Given the description of an element on the screen output the (x, y) to click on. 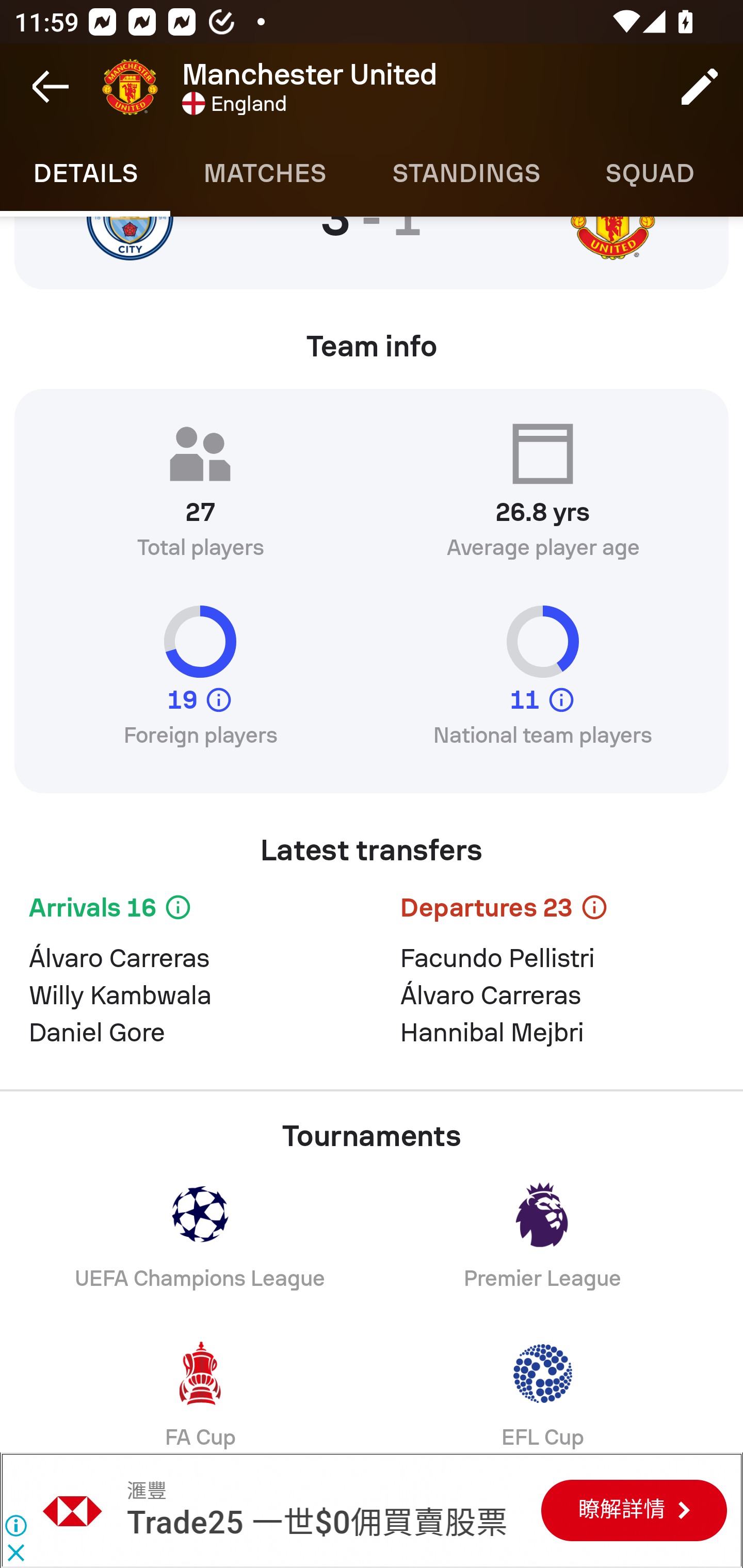
Navigate up (50, 86)
Edit (699, 86)
Matches MATCHES (264, 173)
Standings STANDINGS (465, 173)
Squad SQUAD (650, 173)
19 Foreign players (199, 685)
11 National team players (542, 685)
Arrivals 16 (185, 910)
Departures 23 (557, 910)
UEFA Champions League (199, 1250)
Premier League (542, 1250)
FA Cup (199, 1390)
EFL Cup (542, 1390)
滙豐 (73, 1510)
滙豐 (145, 1491)
瞭解詳情 (634, 1509)
Trade25 一世$0佣買賣股票 (316, 1522)
